Given the description of an element on the screen output the (x, y) to click on. 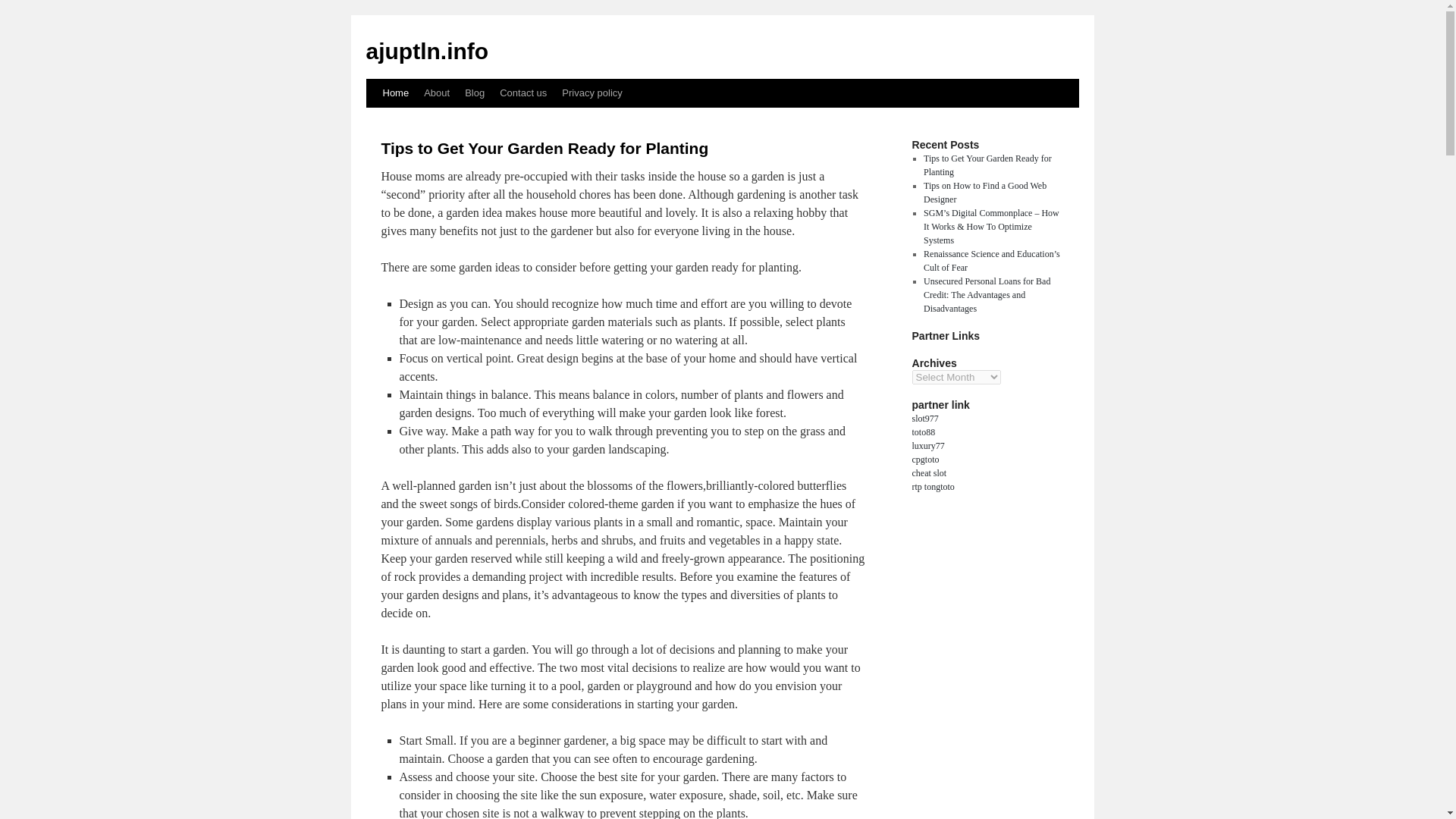
Tips on How to Find a Good Web Designer (984, 192)
About (436, 92)
ajuptln.info (426, 50)
Tips to Get Your Garden Ready for Planting (987, 165)
Tips to Get Your Garden Ready for Planting (543, 148)
Tips on How to Find a Good Web Designer (984, 192)
ajuptln.info (426, 50)
About (436, 92)
Tips to Get Your Garden Ready for Planting (987, 165)
Blog (474, 92)
